Given the description of an element on the screen output the (x, y) to click on. 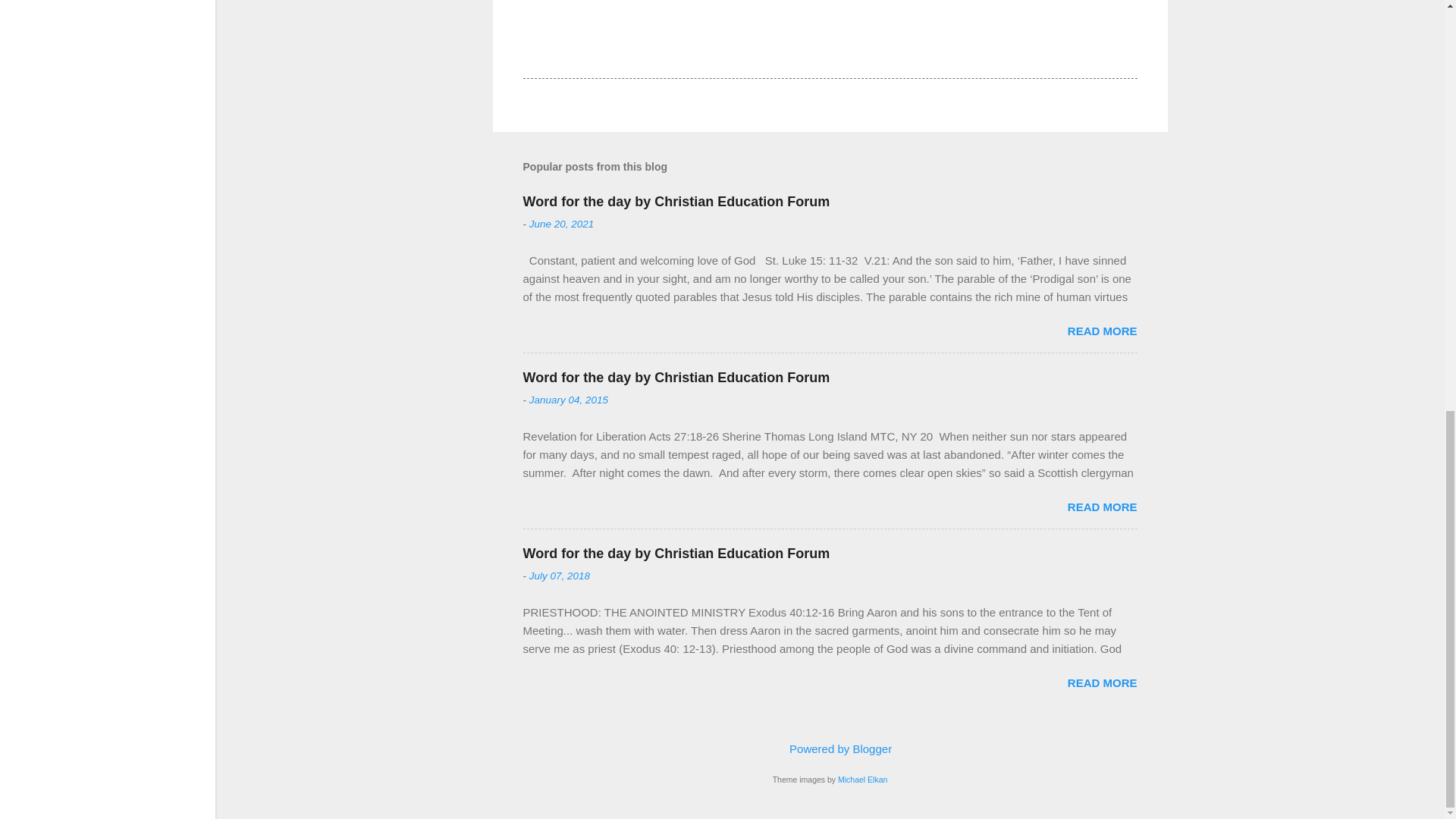
June 20, 2021 (561, 224)
Powered by Blogger (829, 748)
READ MORE (1102, 506)
July 07, 2018 (559, 575)
Word for the day by Christian Education Forum (675, 377)
permanent link (561, 224)
Michael Elkan (862, 778)
Word for the day by Christian Education Forum (675, 201)
Word for the day by Christian Education Forum (675, 553)
READ MORE (1102, 682)
January 04, 2015 (568, 399)
READ MORE (1102, 330)
